Given the description of an element on the screen output the (x, y) to click on. 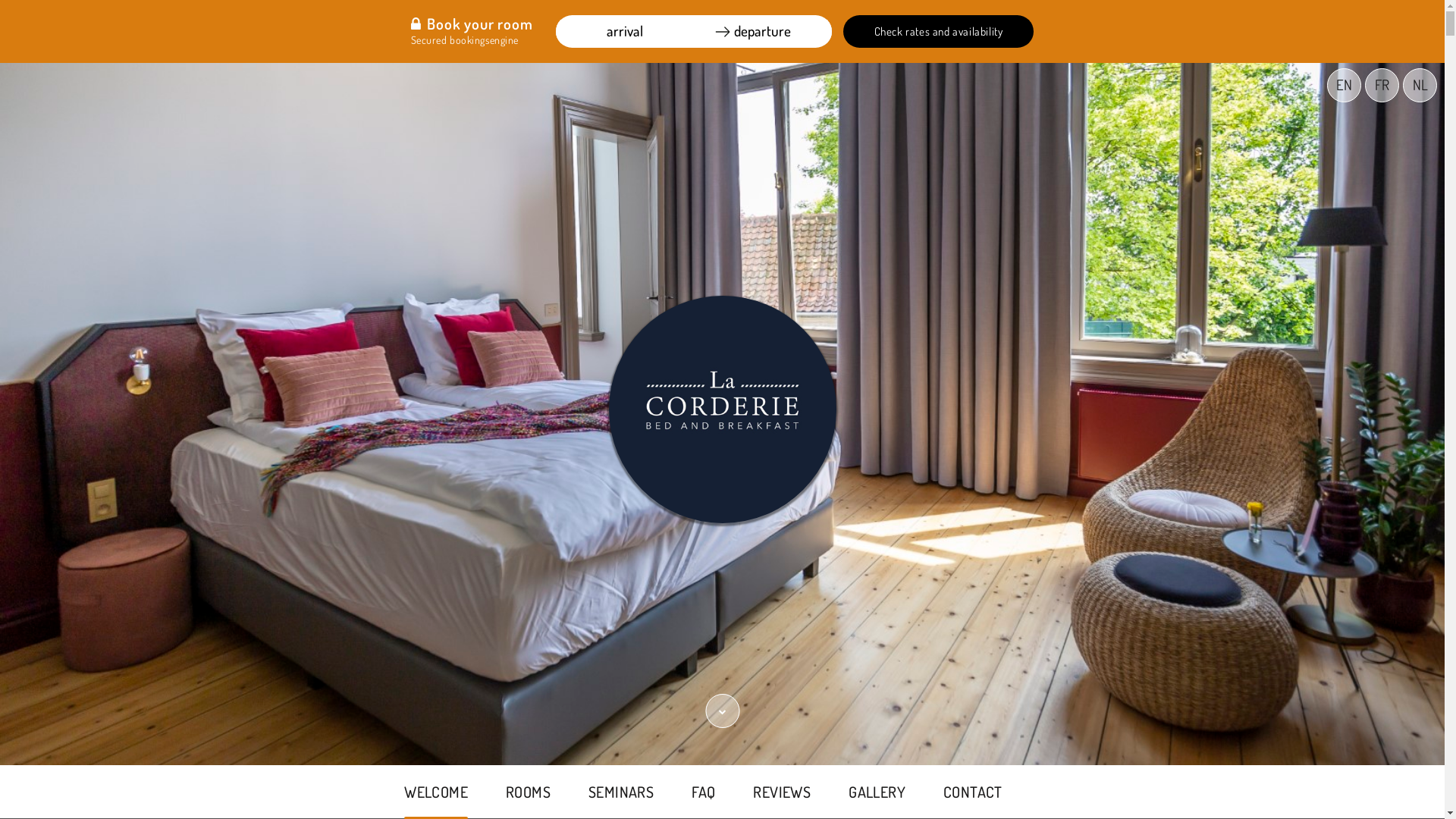
GALLERY Element type: text (876, 791)
EN Element type: text (1344, 85)
Check rates and availability Element type: text (938, 31)
REVIEWS Element type: text (781, 791)
SEMINARS Element type: text (620, 791)
ROOMS Element type: text (527, 791)
FR Element type: text (1382, 85)
WELCOME Element type: text (435, 791)
NL Element type: text (1419, 85)
FAQ Element type: text (703, 791)
CONTACT Element type: text (972, 791)
